Given the description of an element on the screen output the (x, y) to click on. 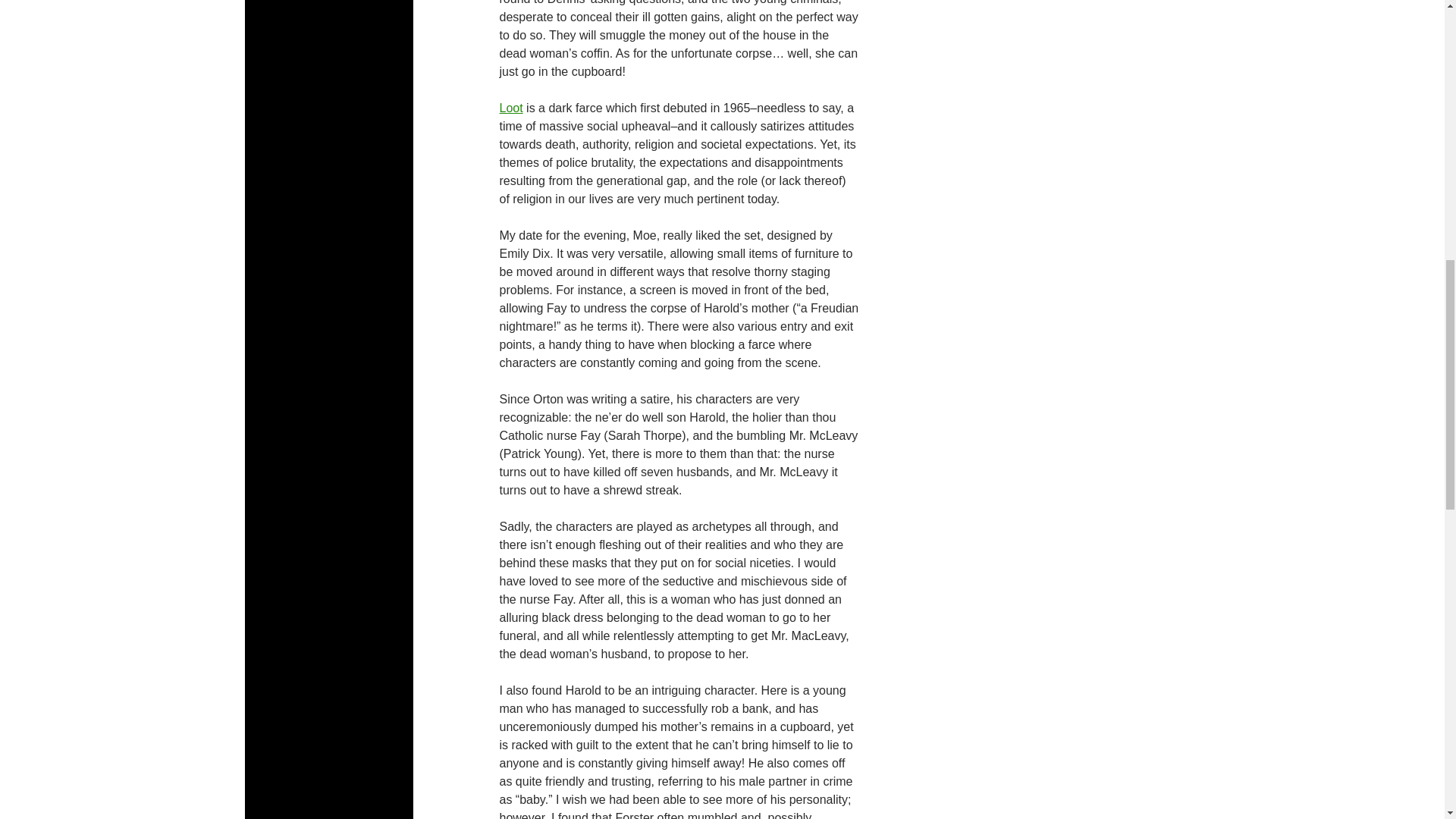
Loot (510, 107)
